Given the description of an element on the screen output the (x, y) to click on. 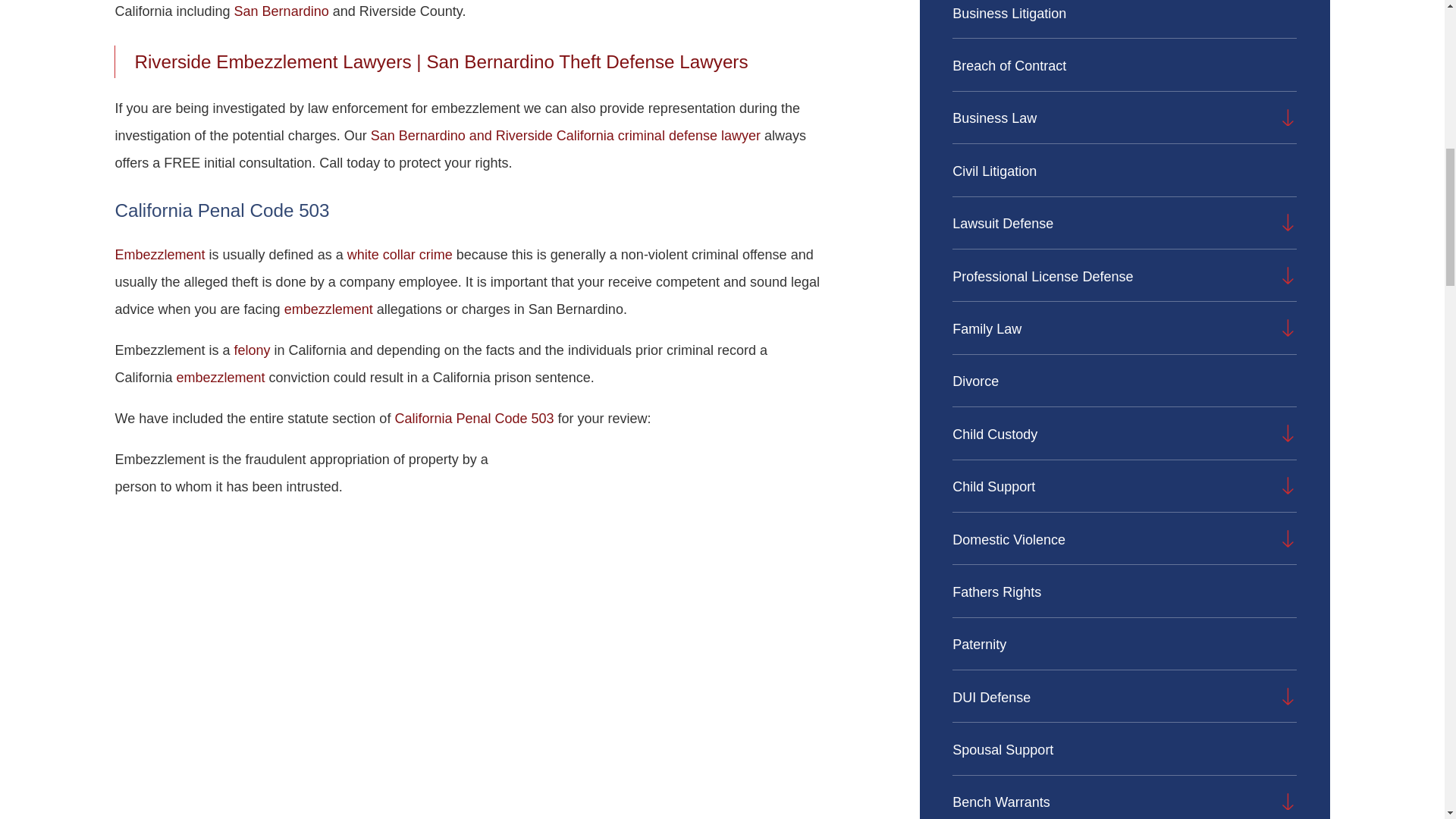
Open child menu of Family Law (1288, 327)
Open child menu of Domestic Violence (1288, 538)
Open child menu of DUI Defense (1288, 696)
Open child menu of Lawsuit Defense (1288, 221)
Open child menu of Professional License Defense (1288, 275)
Open child menu of Child Custody (1288, 433)
Open child menu of Child Support (1288, 485)
Open child menu of Bench Warrants (1288, 801)
Open child menu of Business Law (1288, 117)
